Given the description of an element on the screen output the (x, y) to click on. 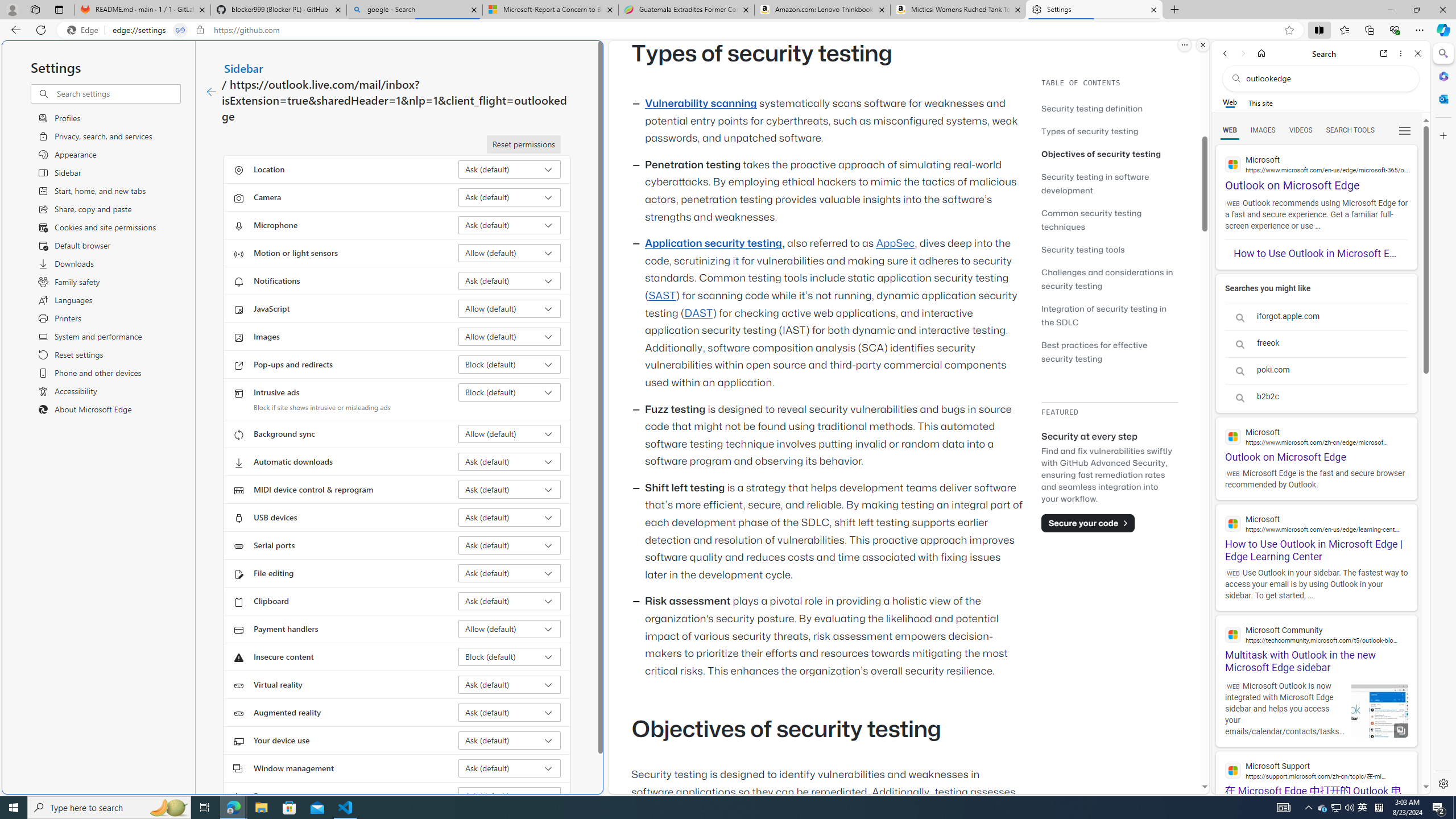
Intrusive ads Block (default) (509, 392)
USB devices Ask (default) (509, 517)
Security testing tools (1083, 248)
Outlook on Microsoft Edge (1315, 440)
DAST (698, 312)
Tabs in split screen (180, 29)
Objectives of security testing (1109, 153)
Best practices for effective security testing (1094, 351)
Best practices for effective security testing (1109, 351)
